Given the description of an element on the screen output the (x, y) to click on. 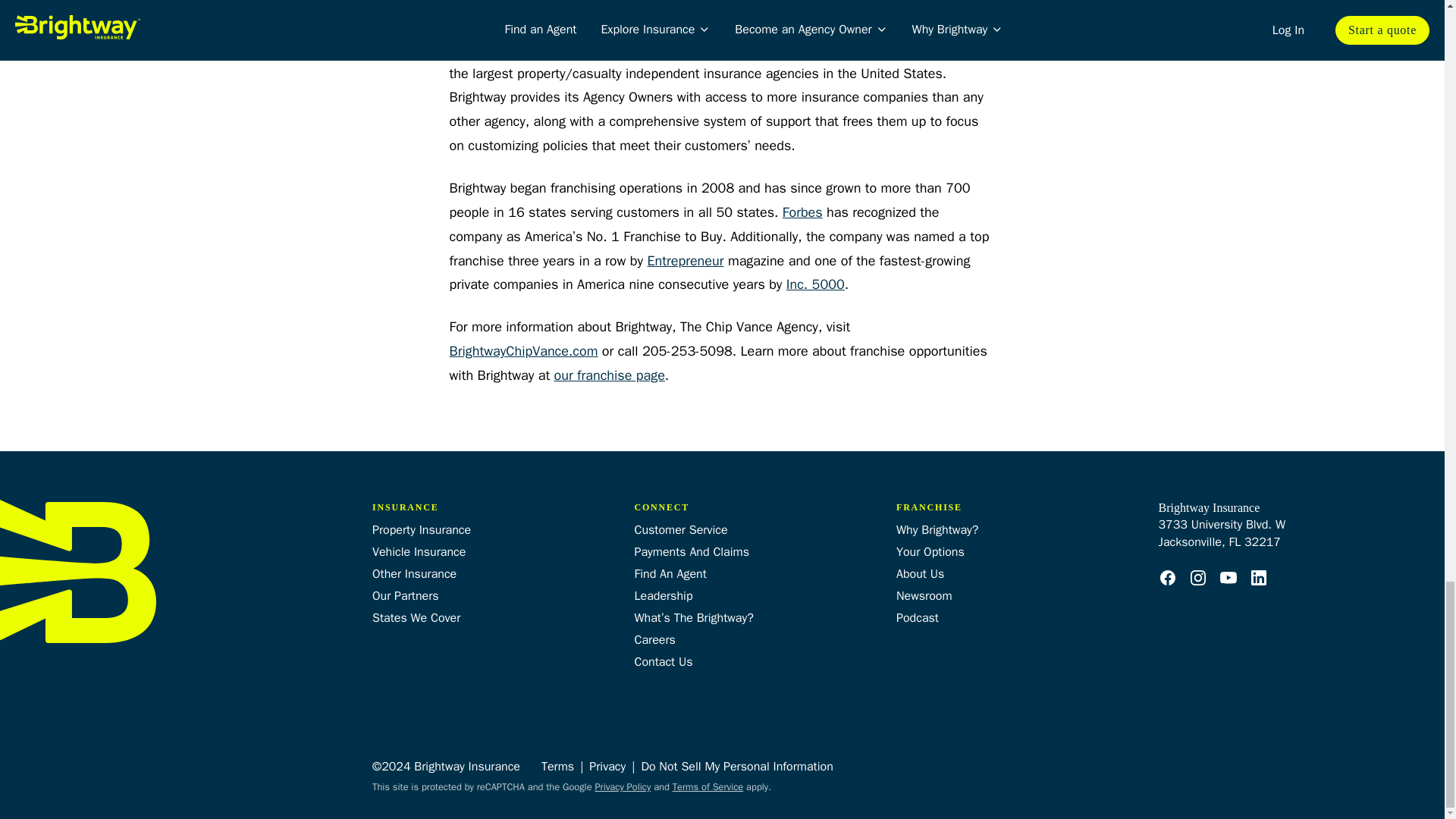
Customer Service (679, 529)
Forbes (802, 212)
Inc. 5000 (815, 284)
Payments And Claims (690, 551)
Careers (654, 639)
BrightwayChipVance.com (522, 351)
Podcast (917, 617)
Property Insurance (421, 529)
Leadership (663, 596)
Why Brightway? (937, 529)
Our Partners (405, 596)
Entrepreneur (684, 261)
About Us (919, 573)
Footer Instagram Icon (1198, 577)
Footer Linkedin Icon (1258, 577)
